Given the description of an element on the screen output the (x, y) to click on. 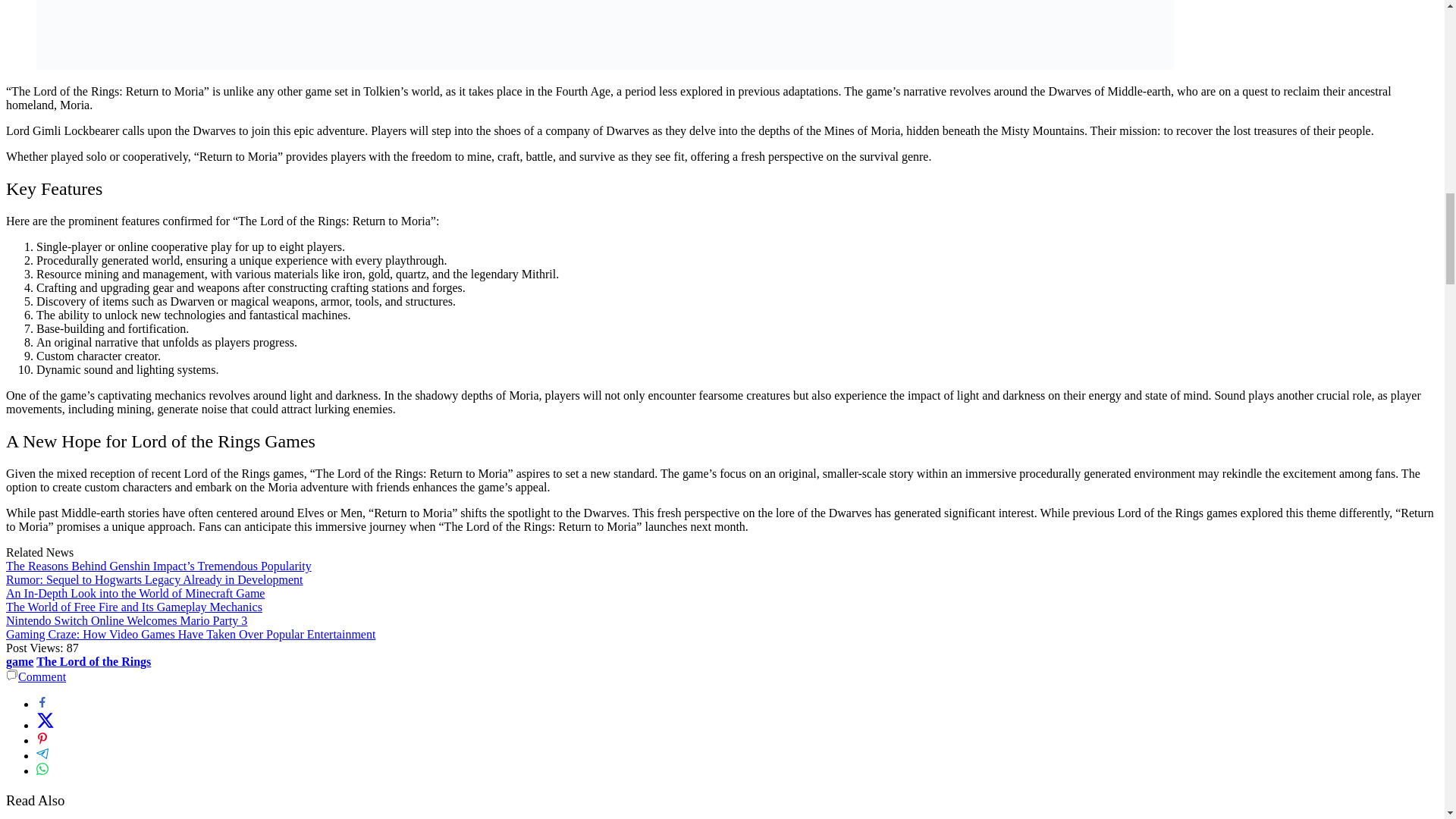
An In-Depth Look into the World of Minecraft Game (134, 593)
Nintendo Switch Online Welcomes Mario Party 3 (126, 620)
Comment (35, 676)
The World of Free Fire and Its Gameplay Mechanics (133, 606)
Nintendo Switch Online Welcomes Mario Party 3 (126, 620)
Rumor: Sequel to Hogwarts Legacy Already in Development (153, 579)
Rumor: Sequel to Hogwarts Legacy Already in Development (153, 579)
game (19, 661)
